Given the description of an element on the screen output the (x, y) to click on. 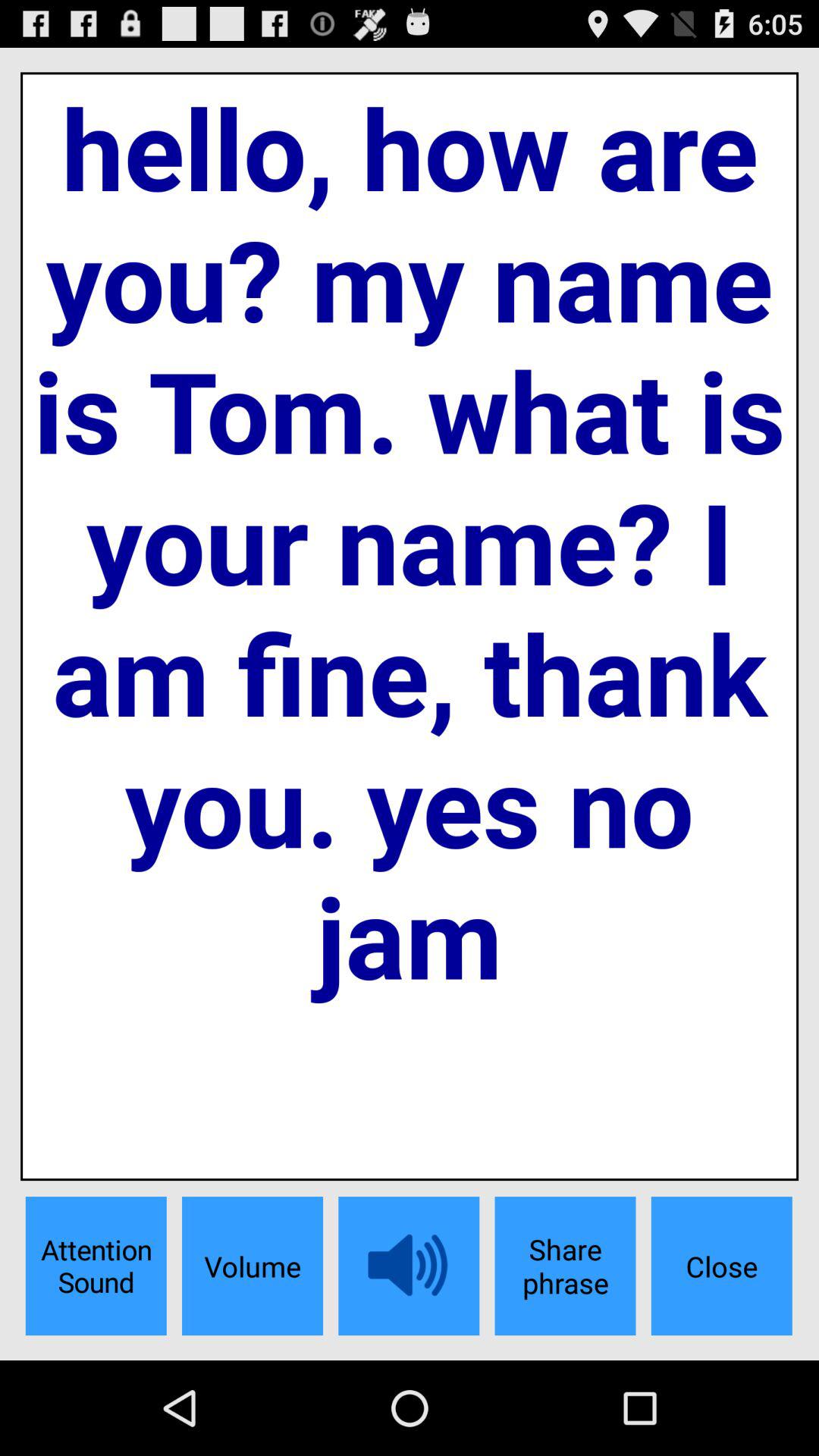
jump until the volume item (252, 1265)
